Given the description of an element on the screen output the (x, y) to click on. 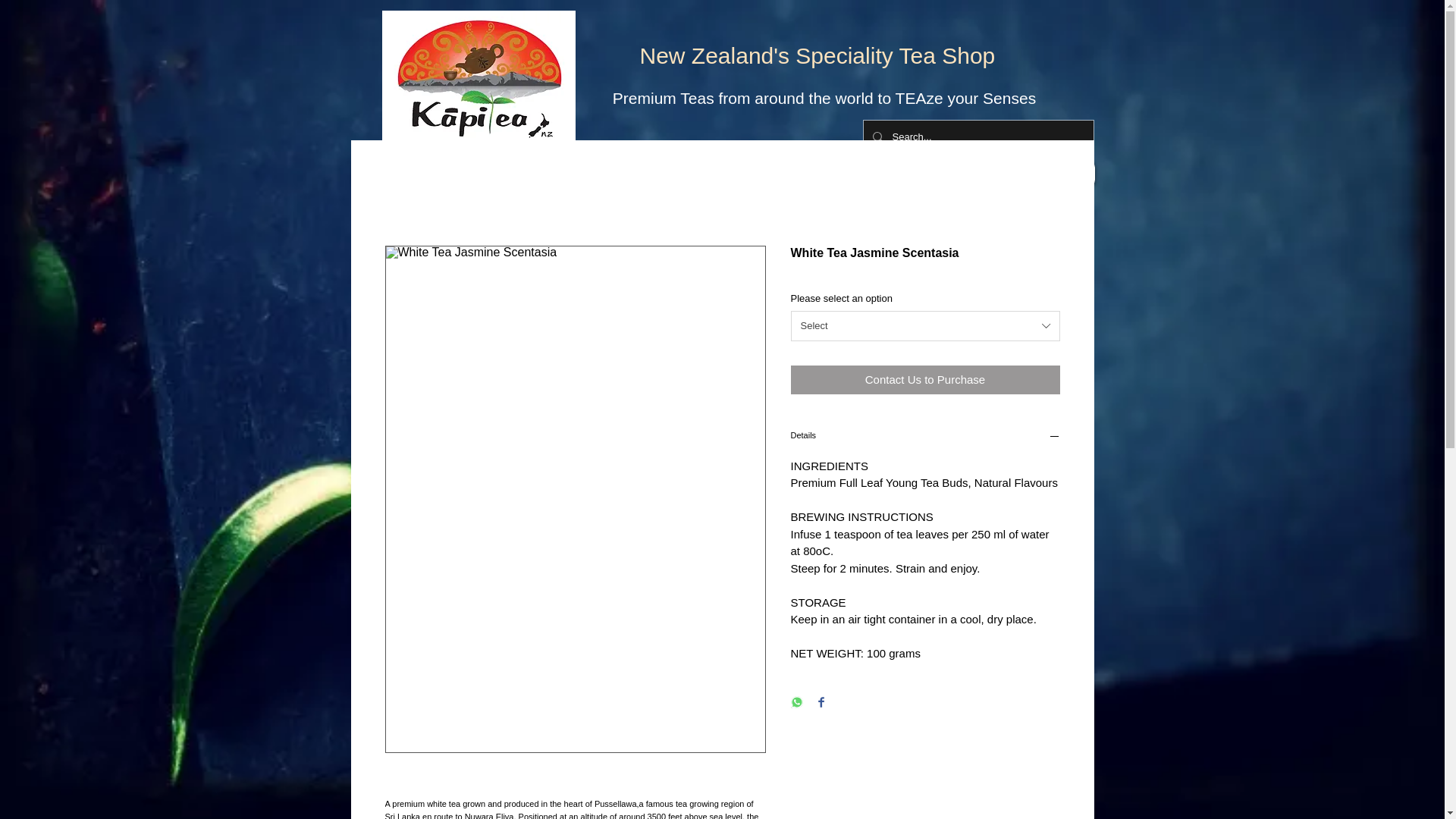
ABOUT US (804, 173)
Select (924, 326)
Contact Us to Purchase (924, 379)
PRODUCTS (475, 173)
CONTACT (892, 173)
WHOLESALE (706, 173)
HOME (390, 173)
Details (924, 437)
Blog (1060, 173)
SHIPPING (984, 173)
TEA APPRECIATION (588, 173)
